Given the description of an element on the screen output the (x, y) to click on. 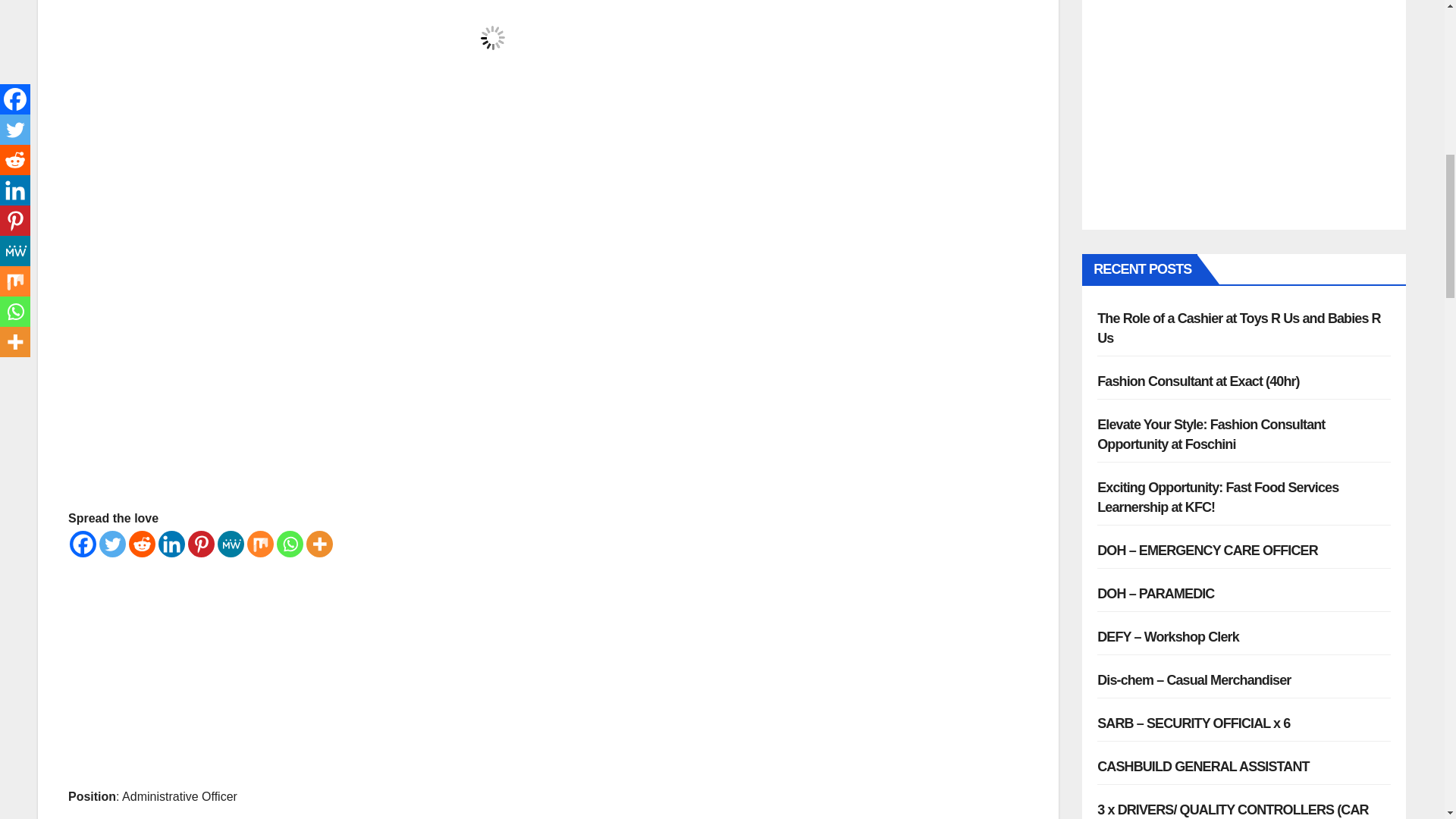
Reddit (142, 543)
Facebook (82, 543)
Linkedin (171, 543)
MeWe (230, 543)
Pinterest (200, 543)
Twitter (112, 543)
